Given the description of an element on the screen output the (x, y) to click on. 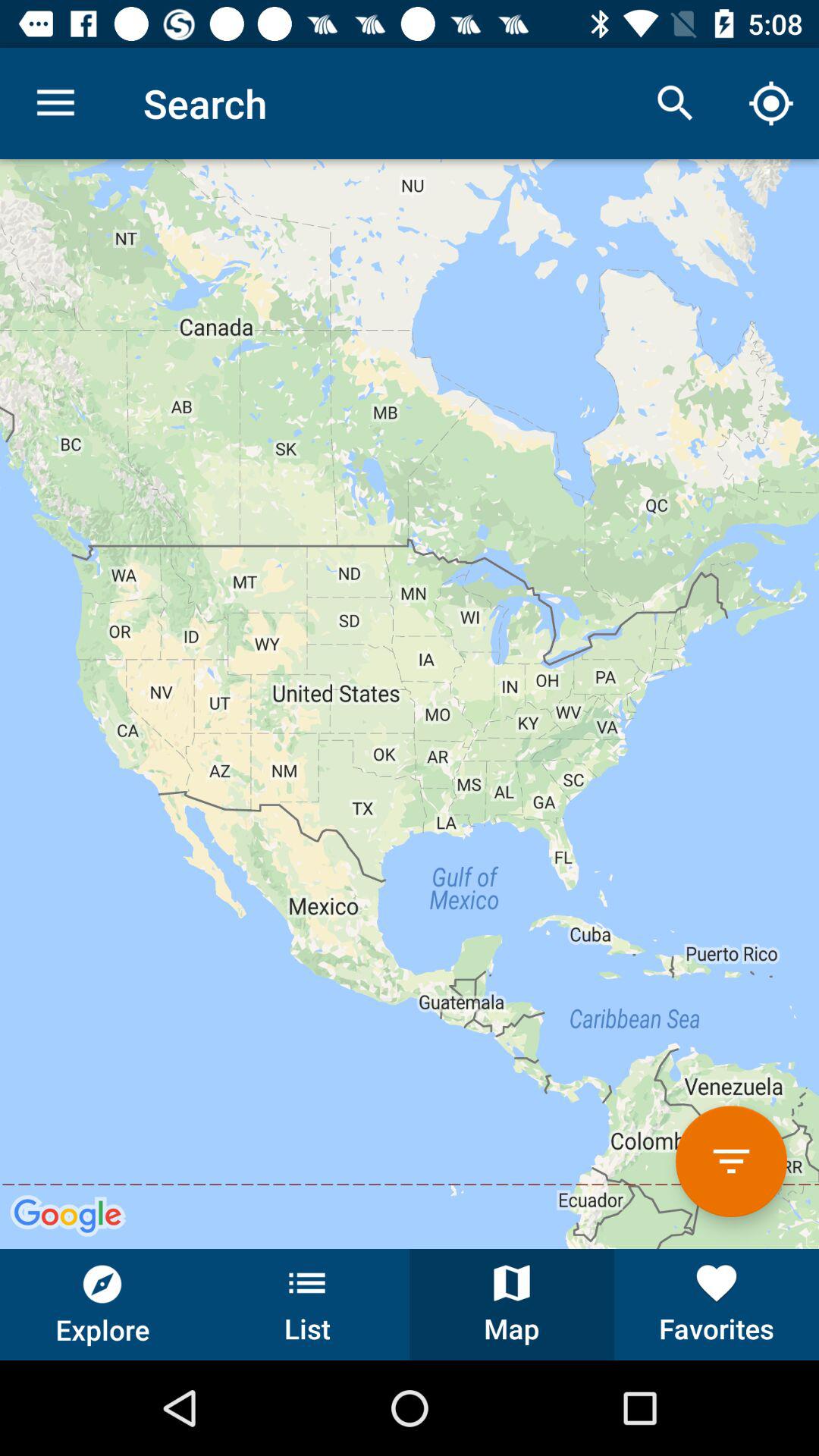
turn off the item to the left of the search item (55, 103)
